Given the description of an element on the screen output the (x, y) to click on. 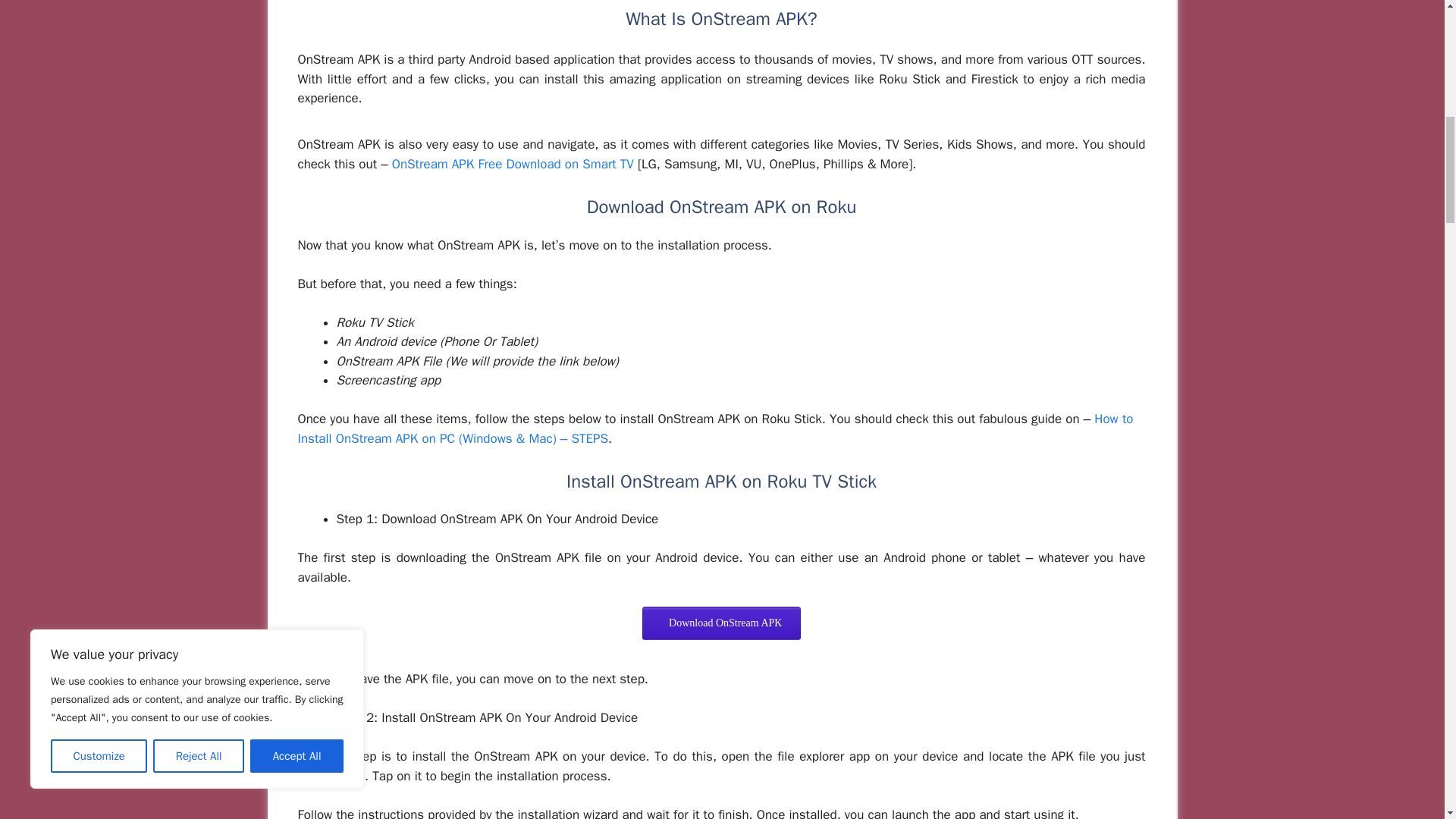
OnStream APK Free Download on Smart TV (512, 163)
   Download OnStream APK (721, 622)
Scroll back to top (1406, 720)
